Given the description of an element on the screen output the (x, y) to click on. 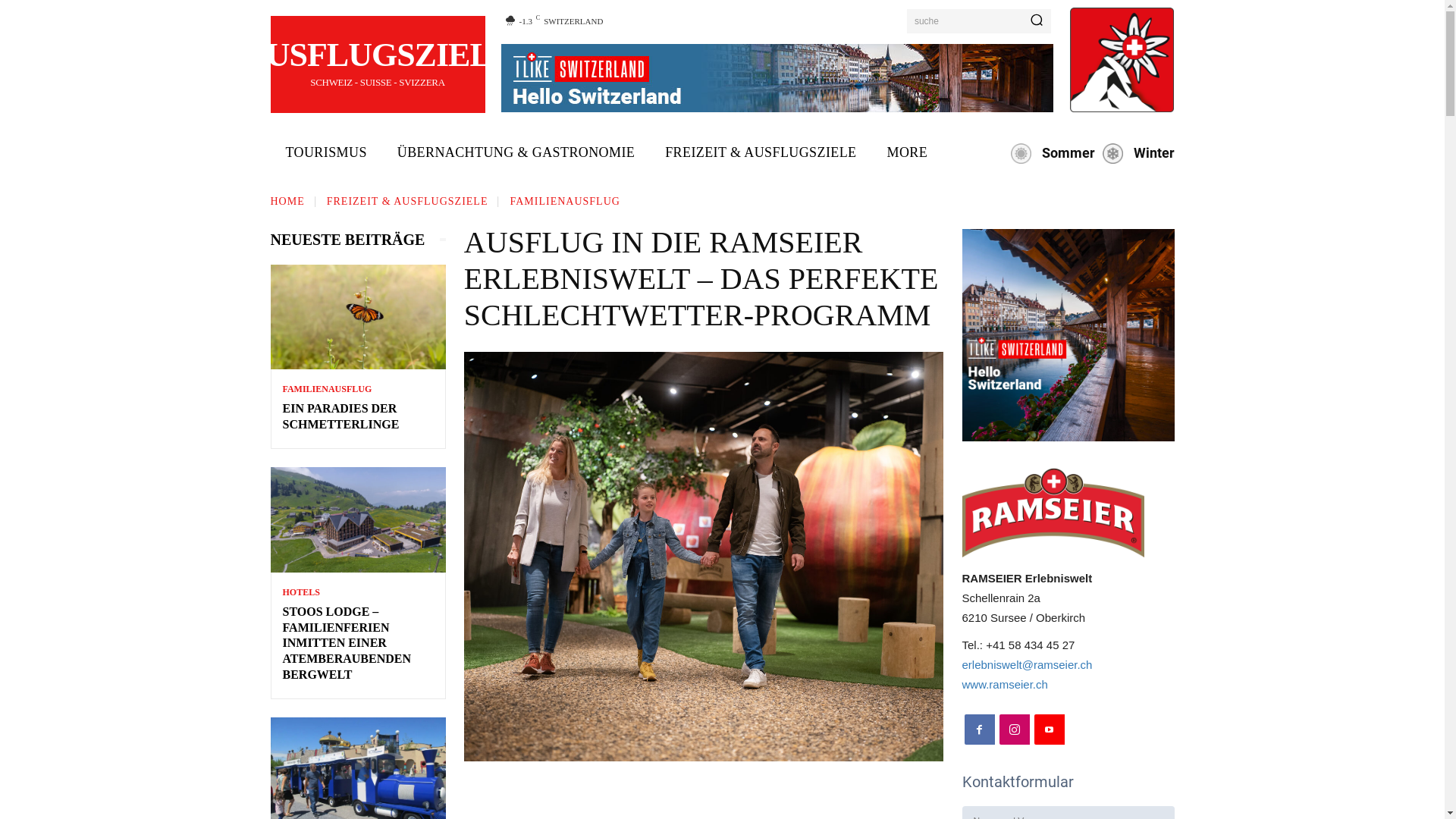
erlebniswelt@ramseier.ch Element type: text (1026, 664)
www.ramseier.ch Element type: text (1004, 683)
FREIZEIT & AUSFLUGSZIELE Element type: text (407, 201)
TOURISMUS Element type: text (325, 152)
Winter Element type: text (1134, 153)
HOME Element type: text (286, 201)
Sommer Element type: text (1049, 153)
FAMILIENAUSFLUG Element type: text (564, 201)
EIN PARADIES DER SCHMETTERLINGE Element type: text (340, 415)
FREIZEIT & AUSFLUGSZIELE Element type: text (760, 152)
HOTELS Element type: text (300, 591)
AUSFLUGSZIELE
SCHWEIZ - SUISSE - SVIZZERA Element type: text (376, 66)
FAMILIENAUSFLUG Element type: text (326, 388)
